Given the description of an element on the screen output the (x, y) to click on. 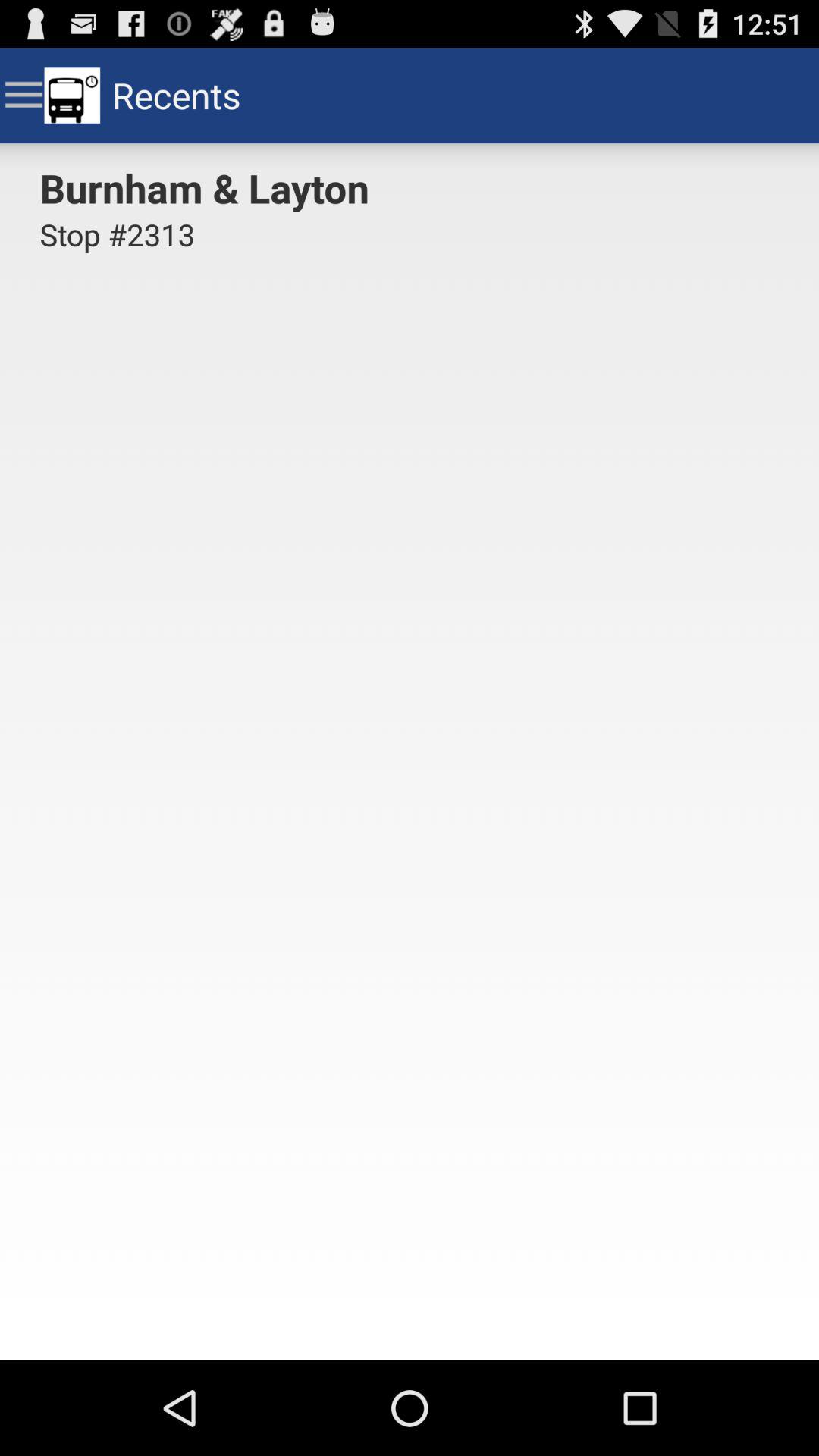
select burnham & layton (208, 187)
